Given the description of an element on the screen output the (x, y) to click on. 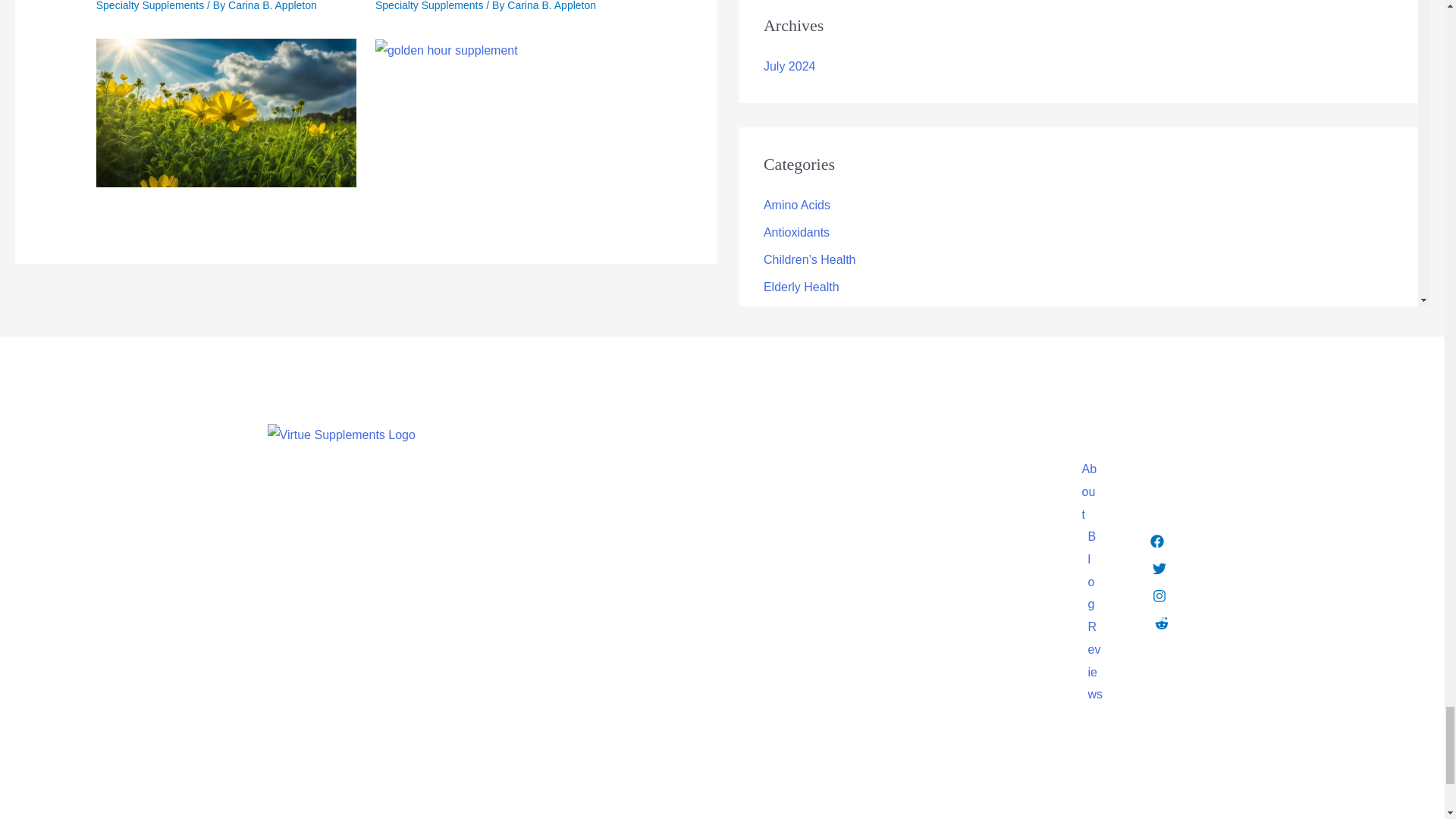
View all posts by Carina B. Appleton (272, 5)
View all posts by Carina B. Appleton (550, 5)
